Given the description of an element on the screen output the (x, y) to click on. 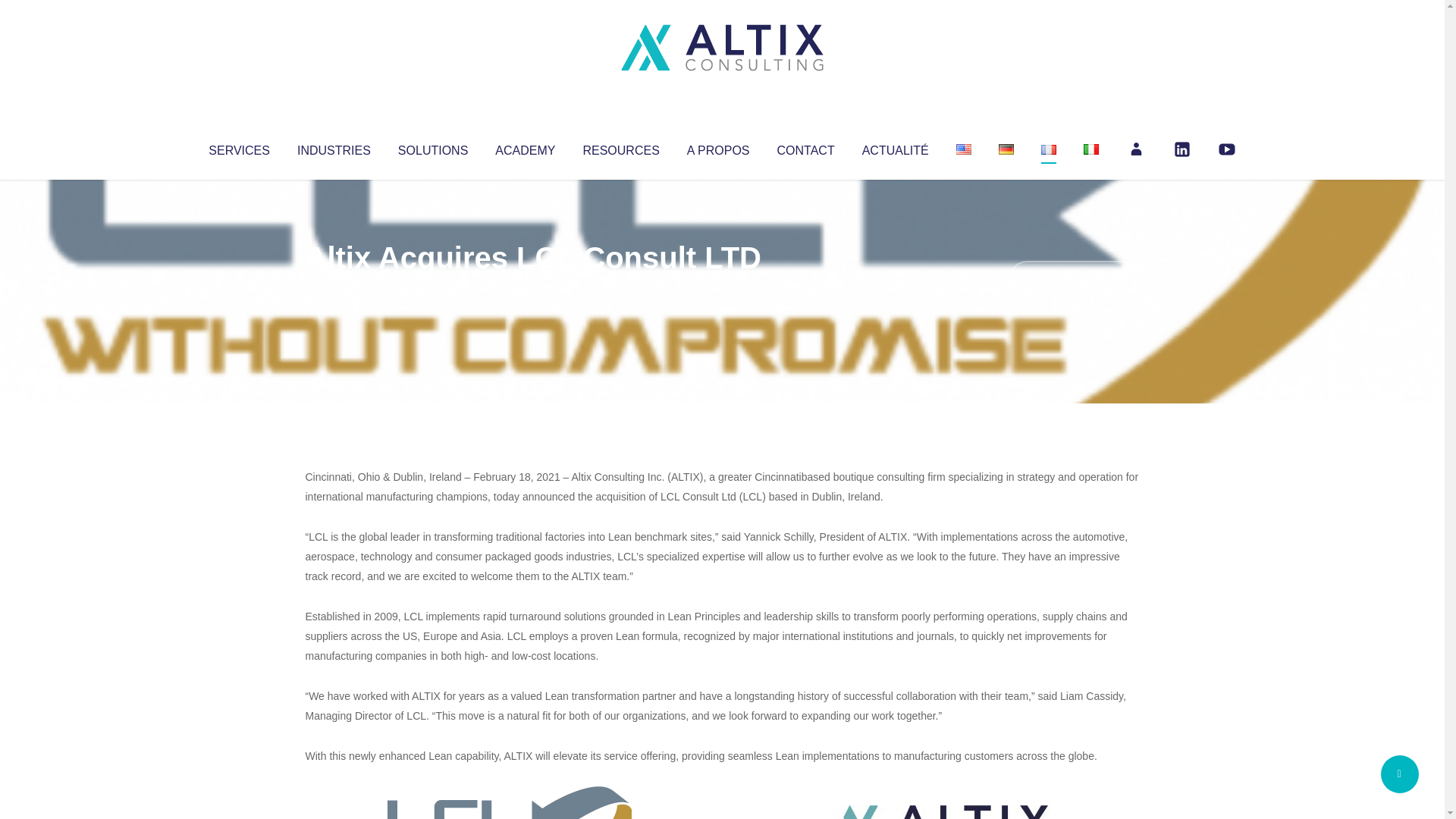
Altix (333, 287)
RESOURCES (620, 146)
Articles par Altix (333, 287)
No Comments (1073, 278)
ACADEMY (524, 146)
INDUSTRIES (334, 146)
SERVICES (238, 146)
Uncategorized (530, 287)
SOLUTIONS (432, 146)
A PROPOS (718, 146)
